Given the description of an element on the screen output the (x, y) to click on. 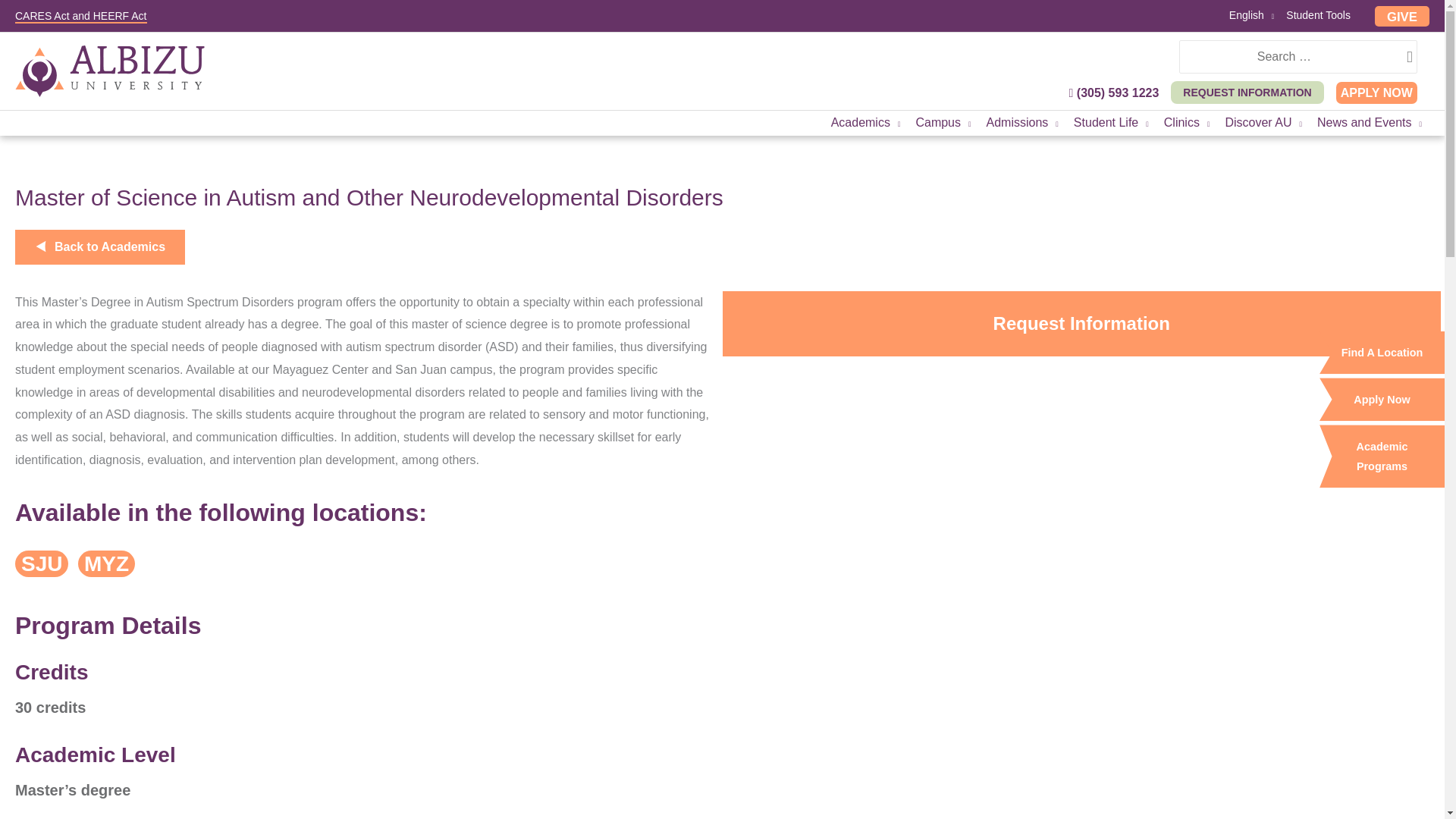
Apply Now (1381, 399)
GIVE (1401, 15)
English (1251, 16)
Academics (866, 122)
Student Tools (1318, 16)
Academic Programs (1381, 455)
REQUEST INFORMATION (1246, 92)
APPLY NOW (1376, 93)
English (1251, 16)
CARES Act and HEERF Act (80, 16)
